Given the description of an element on the screen output the (x, y) to click on. 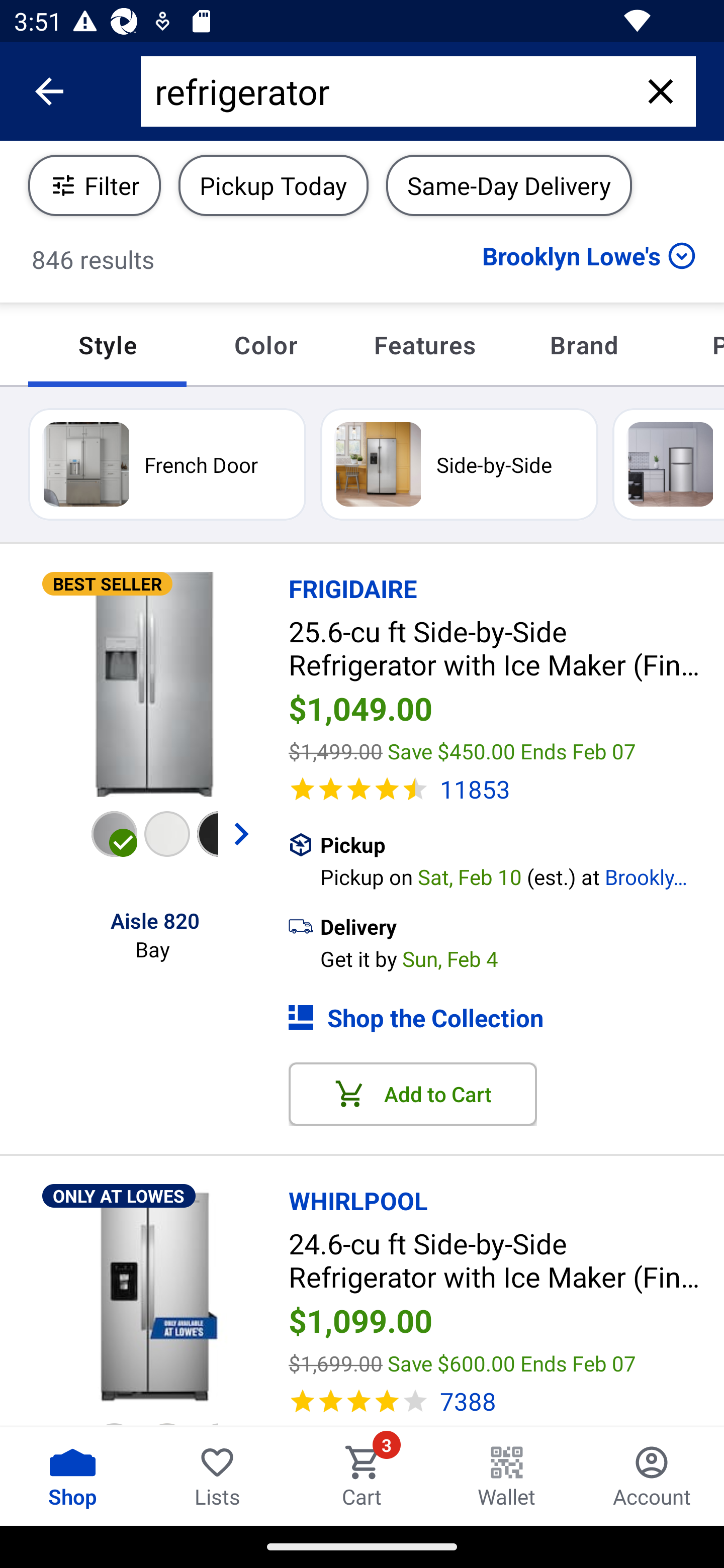
Navigate up (49, 91)
refrigerator (389, 91)
Sort And Filter Button Filter (94, 184)
Pickup Today (273, 184)
Same-Day Delivery (508, 184)
Brooklyn Lowe's Dropdown Icon (588, 255)
Color (265, 344)
Features (424, 344)
Brand (583, 344)
Photo of a french door refrigerator. French Door (167, 463)
Photo of a side-by-side refrigerator. Side-by-Side (459, 463)
Photo of a top-freezer refrigerator. (668, 463)
Pickup on Sat, Feb 10 (est.)  at  Brooklyn Lowe's (522, 874)
Shop the Collection (506, 1017)
Add to Cart (412, 1094)
Lists (216, 1475)
Cart Cart 3 (361, 1475)
Wallet (506, 1475)
Account (651, 1475)
